Given the description of an element on the screen output the (x, y) to click on. 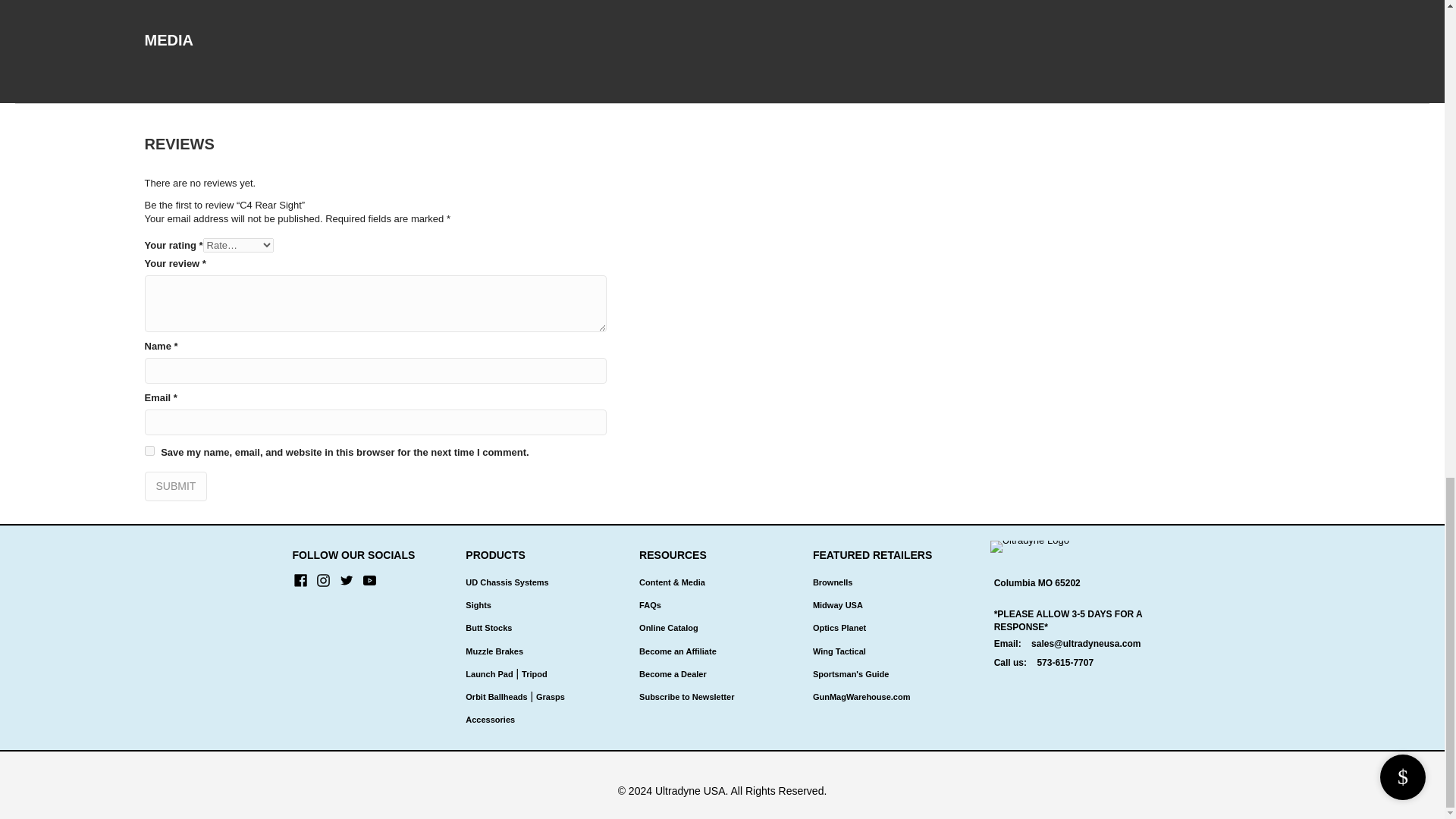
Submit (175, 486)
logo (1029, 546)
yes (149, 450)
